Given the description of an element on the screen output the (x, y) to click on. 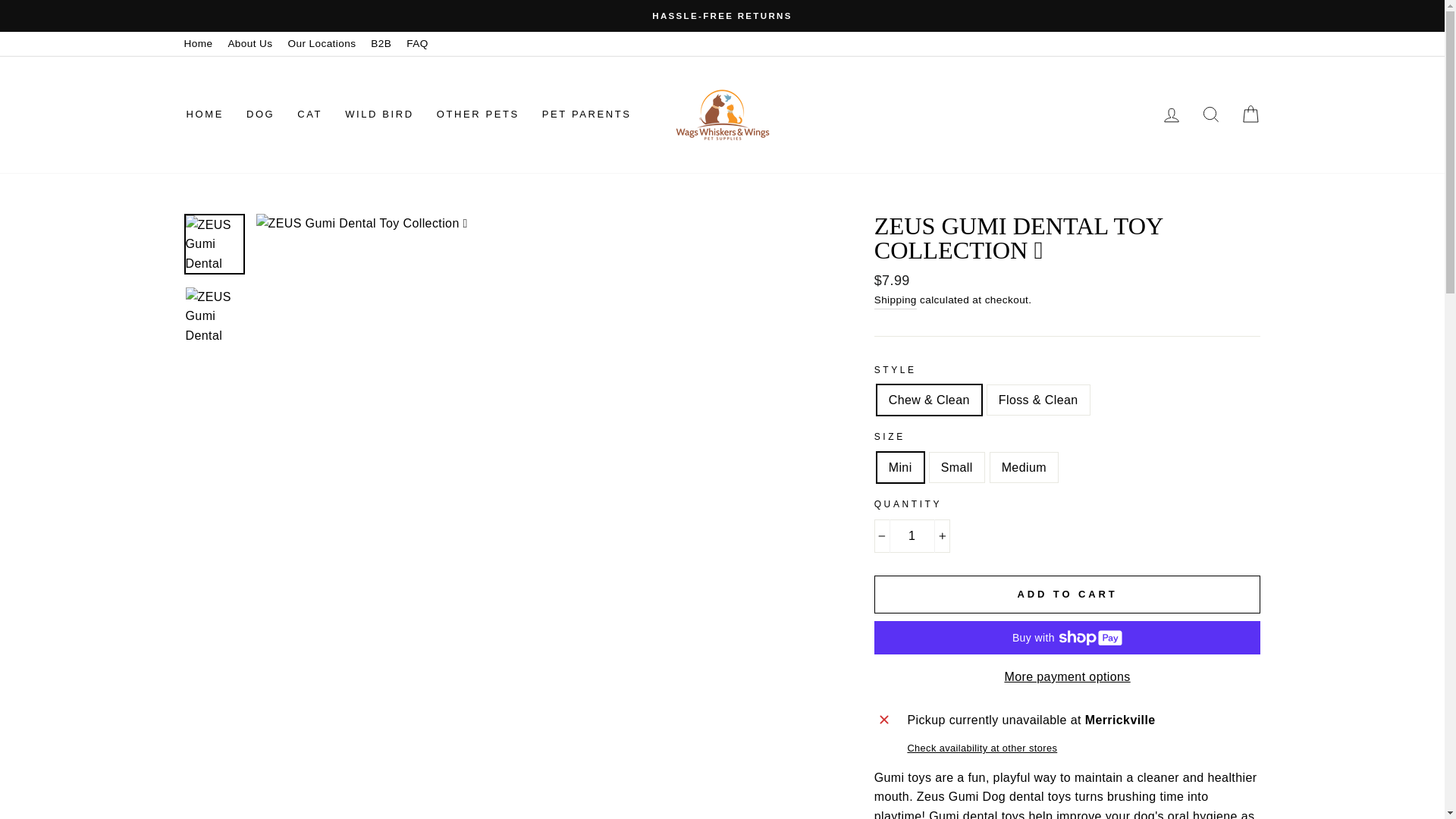
1 (912, 535)
